Given the description of an element on the screen output the (x, y) to click on. 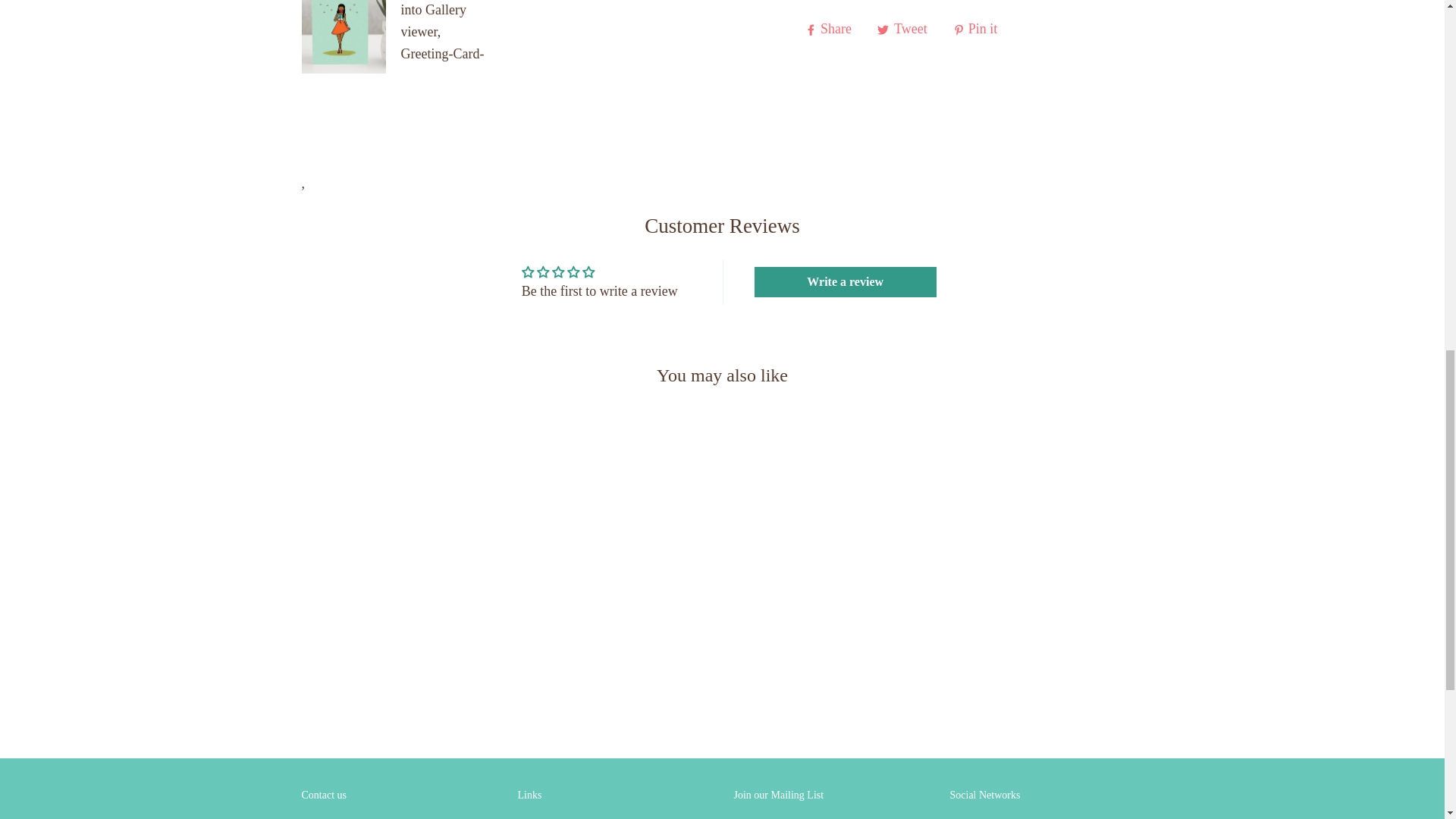
Share (829, 28)
